Given the description of an element on the screen output the (x, y) to click on. 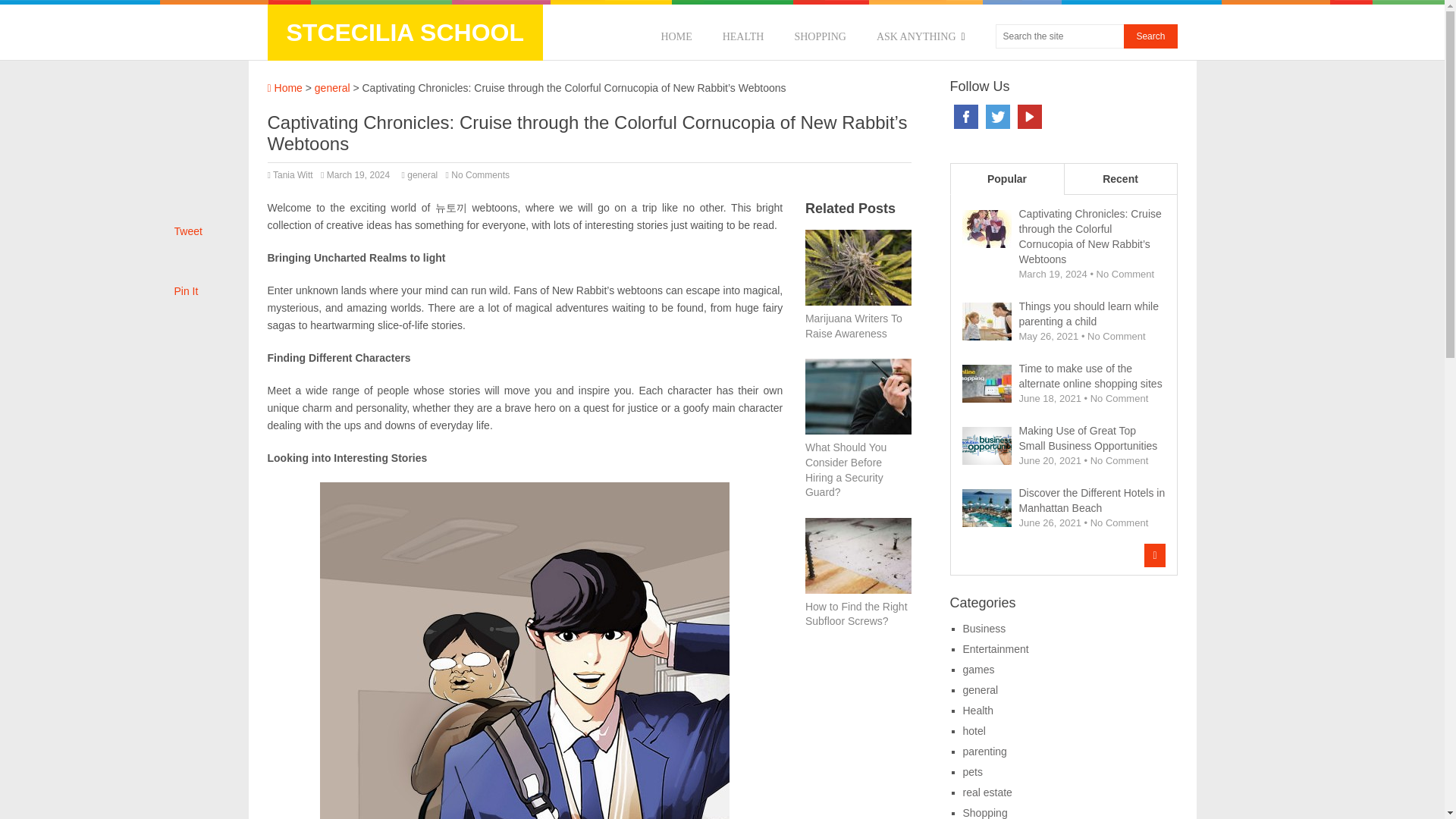
real estate (986, 792)
Business (984, 628)
Entertainment (995, 648)
Search (1150, 36)
general (332, 87)
Facebook (965, 116)
Tania Witt (293, 174)
Search (1150, 36)
Health (977, 710)
Twitter (997, 116)
Facebook (965, 116)
ASK ANYTHING (920, 36)
HEALTH (743, 36)
 Home (283, 87)
Recent (1119, 178)
